Given the description of an element on the screen output the (x, y) to click on. 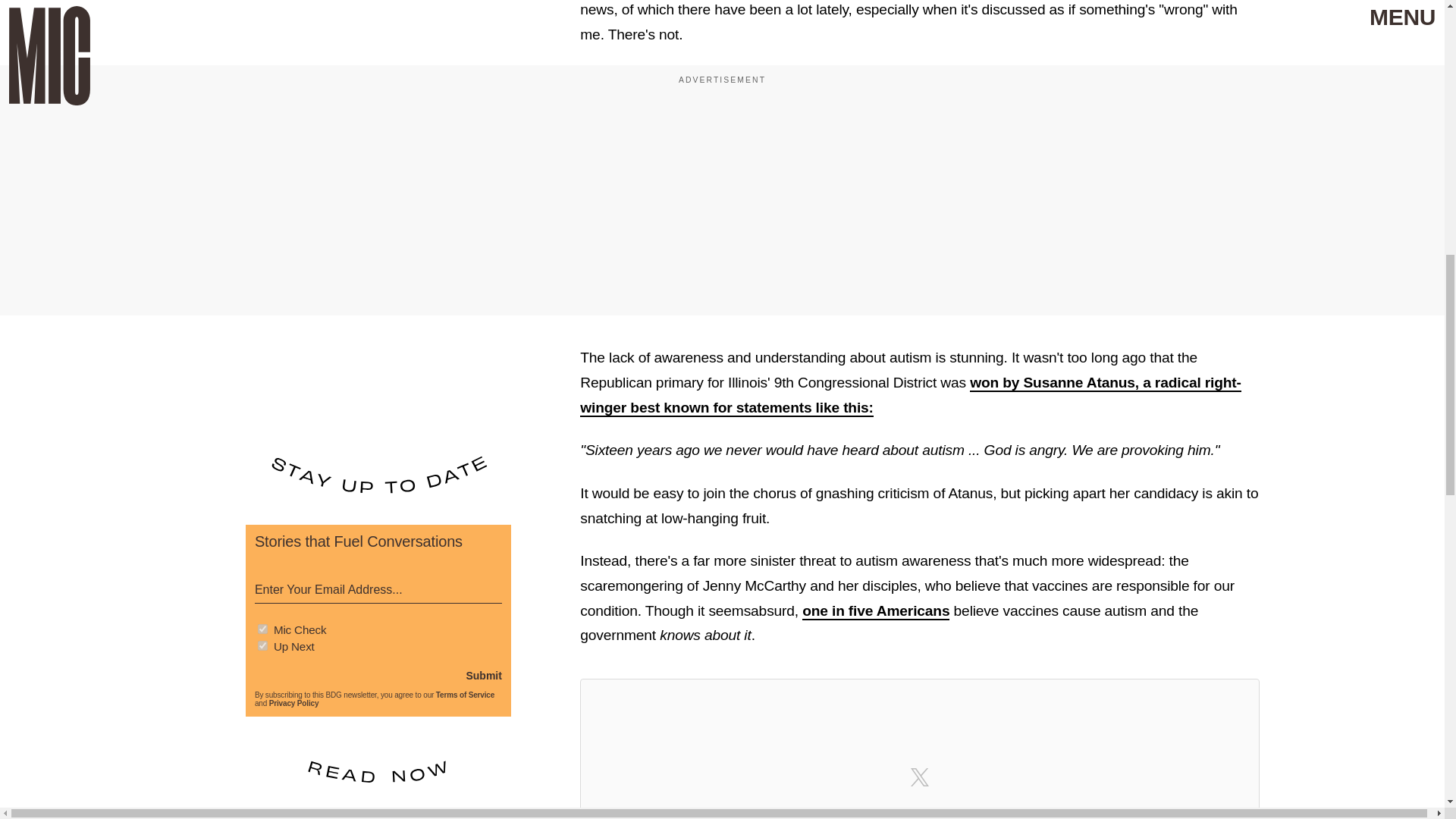
Submit (482, 675)
Privacy Policy (293, 703)
Terms of Service (465, 695)
won (986, 383)
one in five Americans (875, 610)
